Given the description of an element on the screen output the (x, y) to click on. 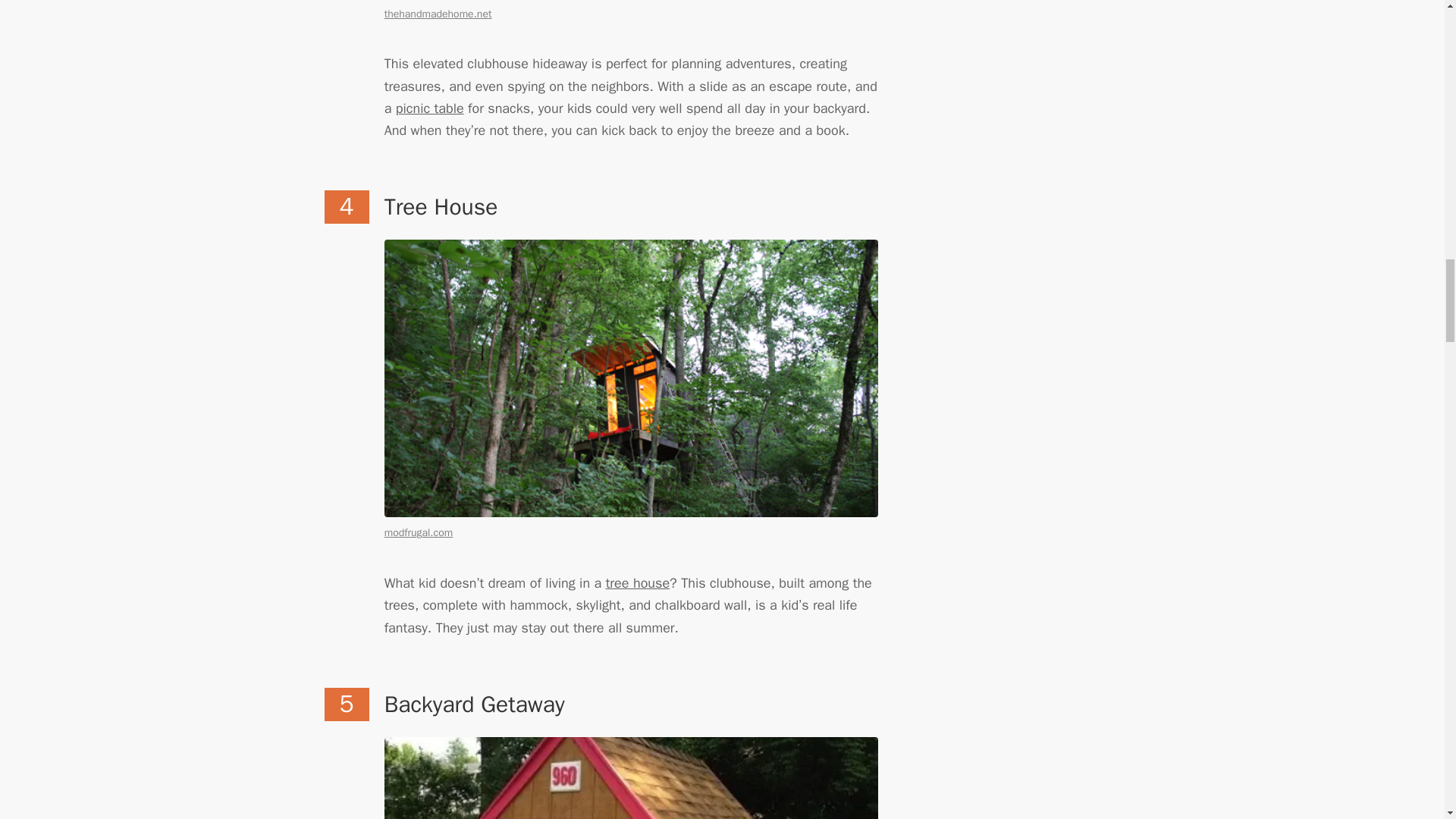
Treehouse Envy: 12 Lofty Designs (637, 582)
